Given the description of an element on the screen output the (x, y) to click on. 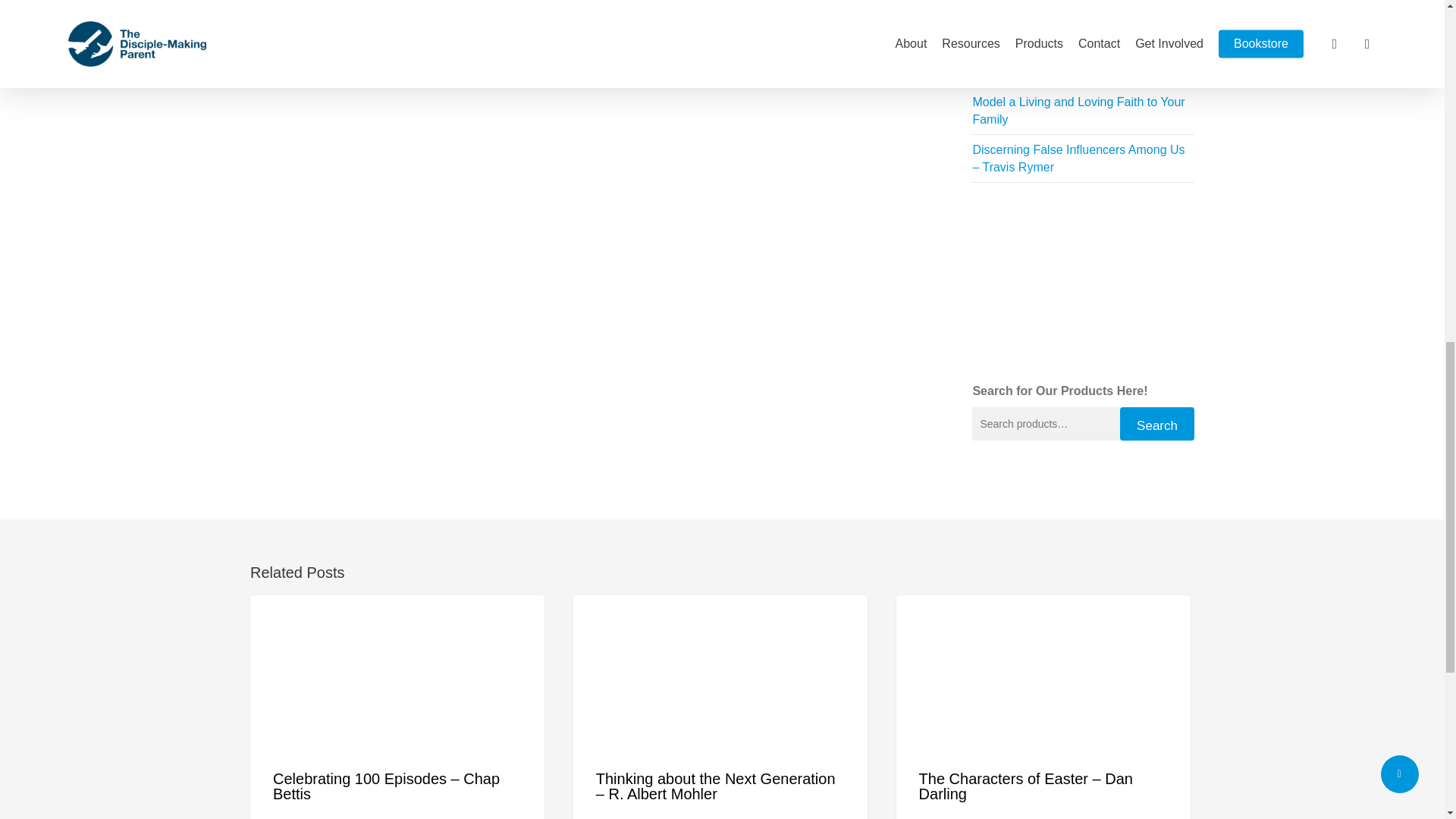
Listen below or on itunes here. (339, 22)
Model a Living and Loving Faith to Your Family (1078, 110)
Staying Friends with Your Adult Children (1080, 23)
